Given the description of an element on the screen output the (x, y) to click on. 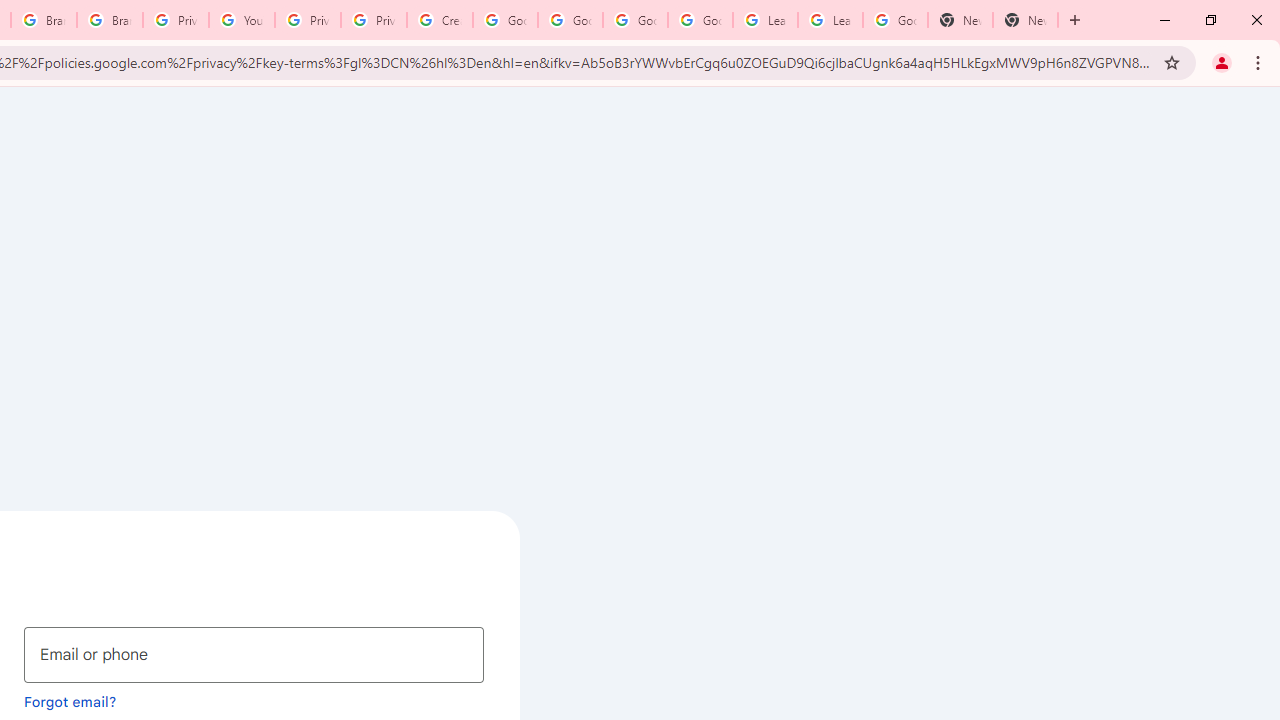
Email or phone (253, 654)
Create your Google Account (440, 20)
YouTube (241, 20)
Brand Resource Center (109, 20)
Google Account (894, 20)
New Tab (1025, 20)
Google Account Help (504, 20)
